Given the description of an element on the screen output the (x, y) to click on. 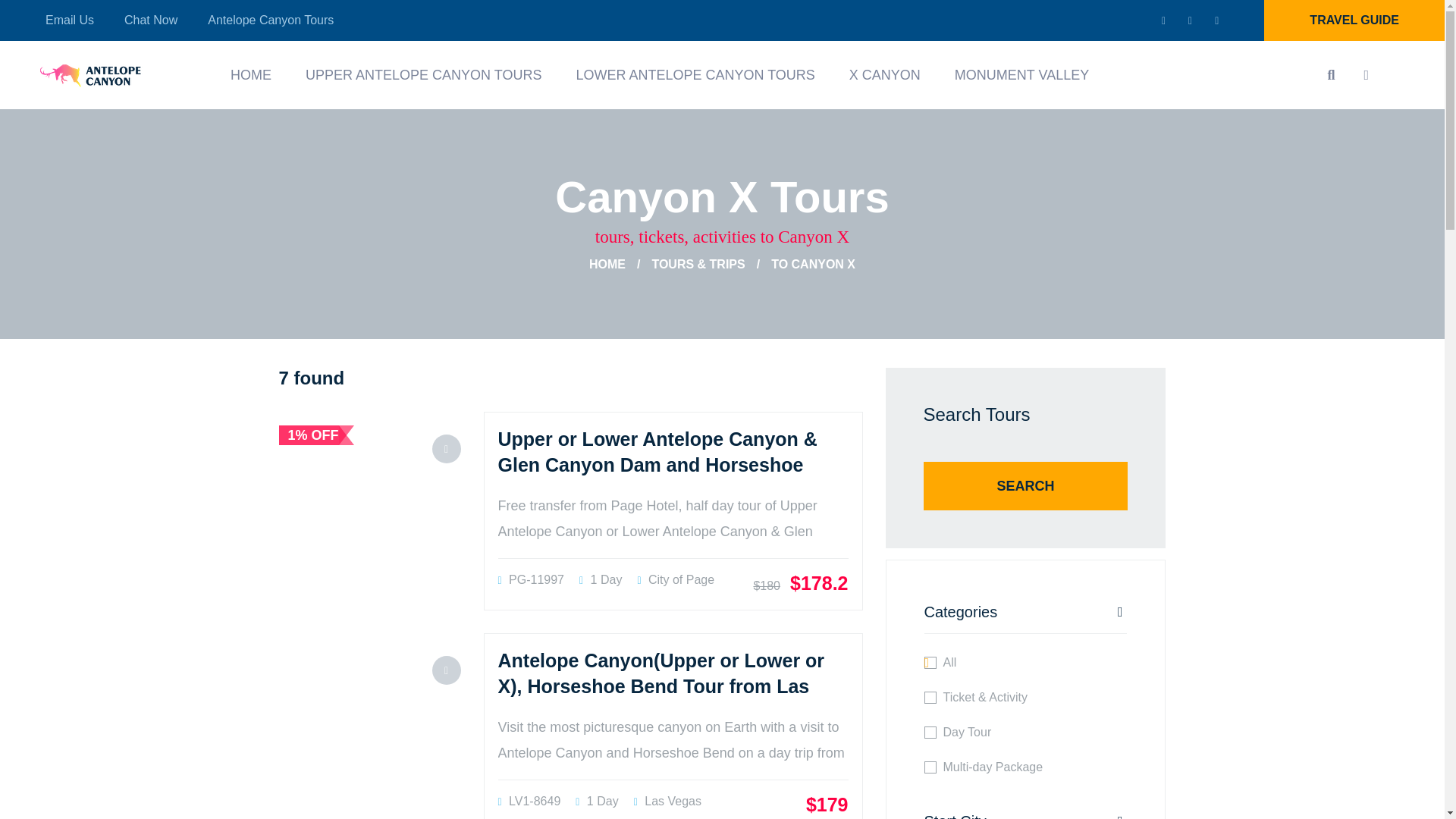
Chat Now (150, 20)
MONUMENT VALLEY (1022, 74)
Canyon X Tours (721, 195)
Antelope Canyon Tours (270, 20)
City of Page (675, 579)
HOME (250, 74)
LOWER ANTELOPE CANYON TOURS (694, 74)
X CANYON (884, 74)
UPPER ANTELOPE CANYON TOURS (423, 74)
Email Us (69, 20)
